Given the description of an element on the screen output the (x, y) to click on. 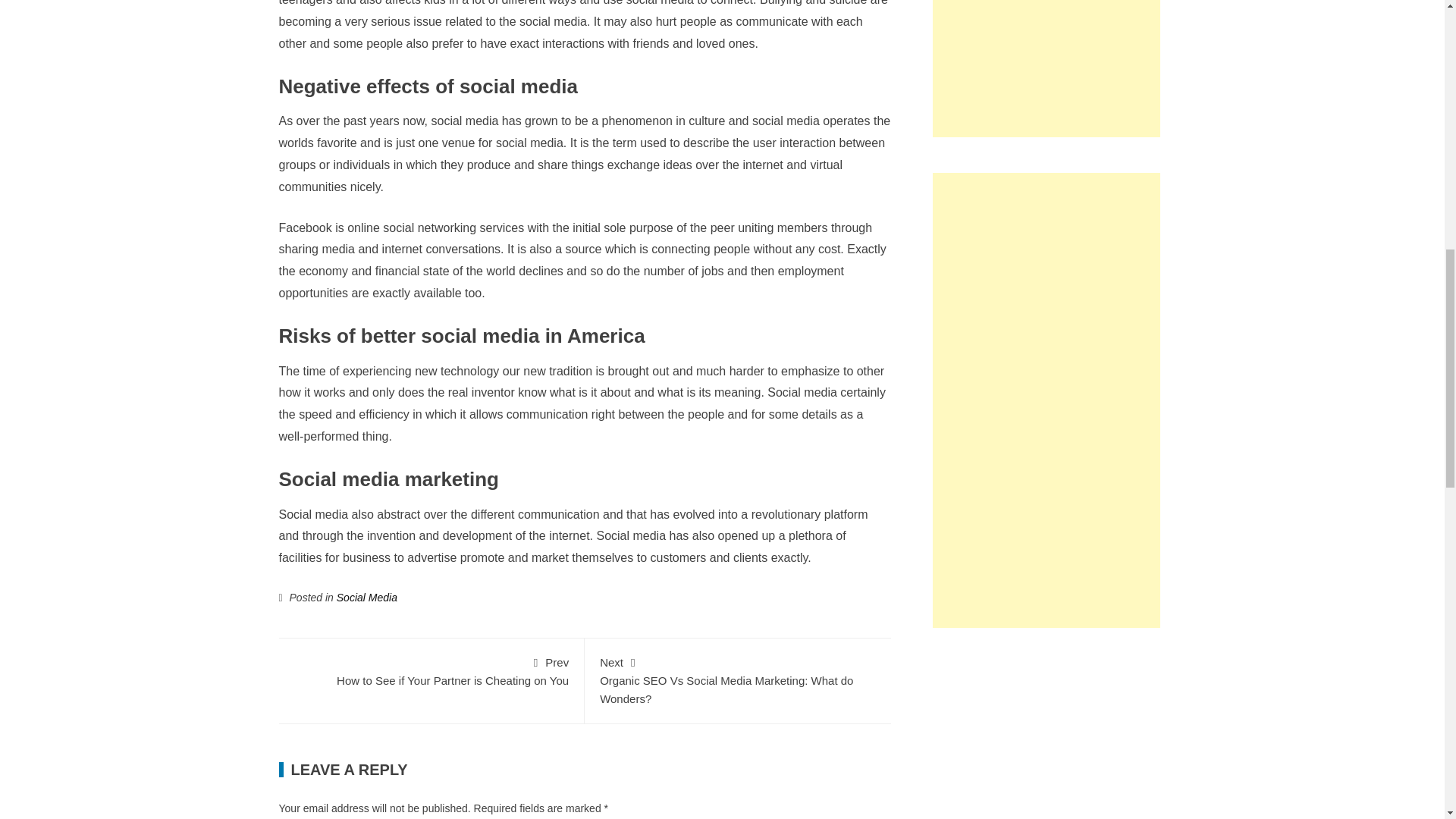
Social Media (366, 597)
